Given the description of an element on the screen output the (x, y) to click on. 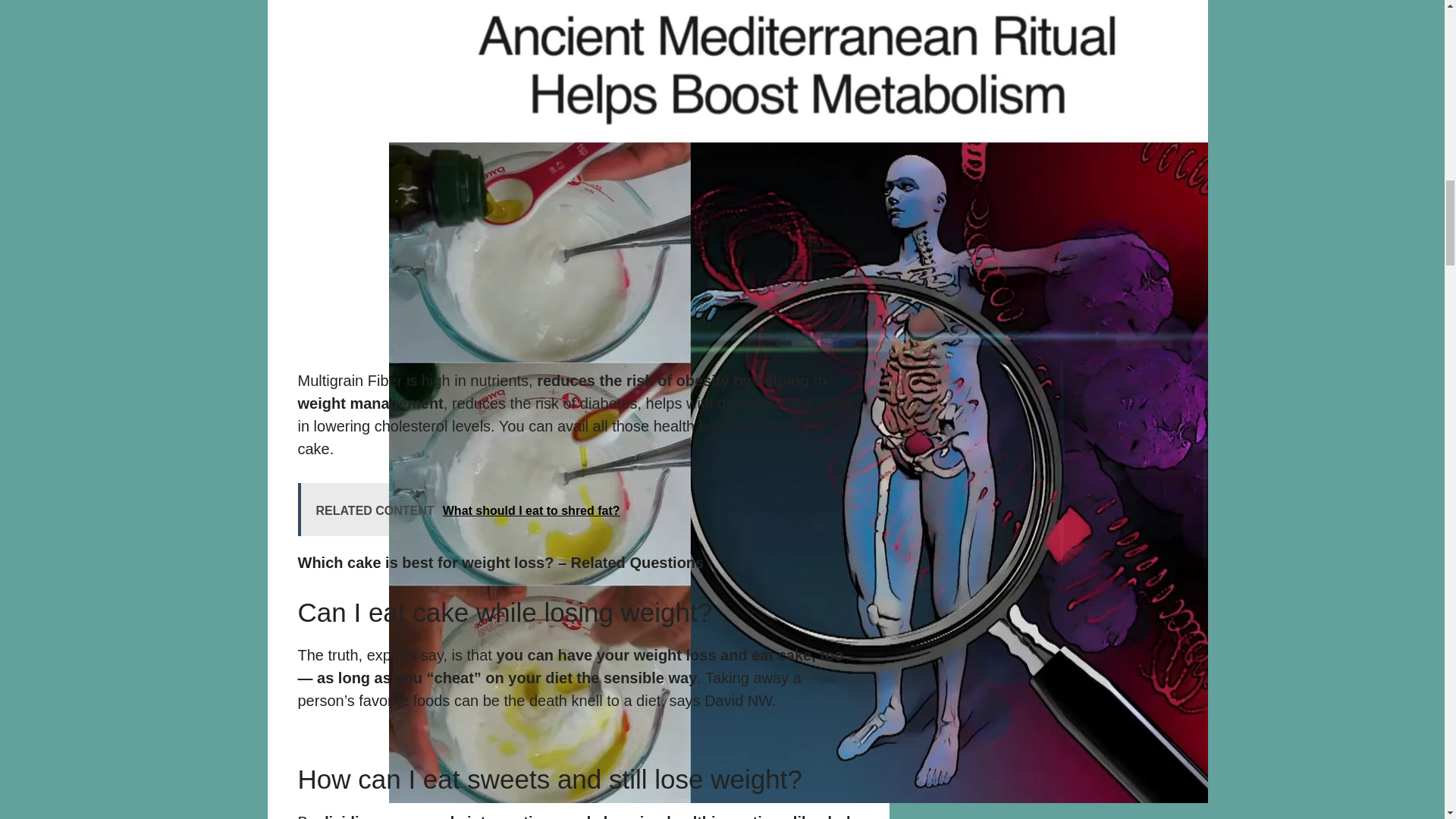
RELATED CONTENT  What should I eat to shred fat? (578, 509)
